Given the description of an element on the screen output the (x, y) to click on. 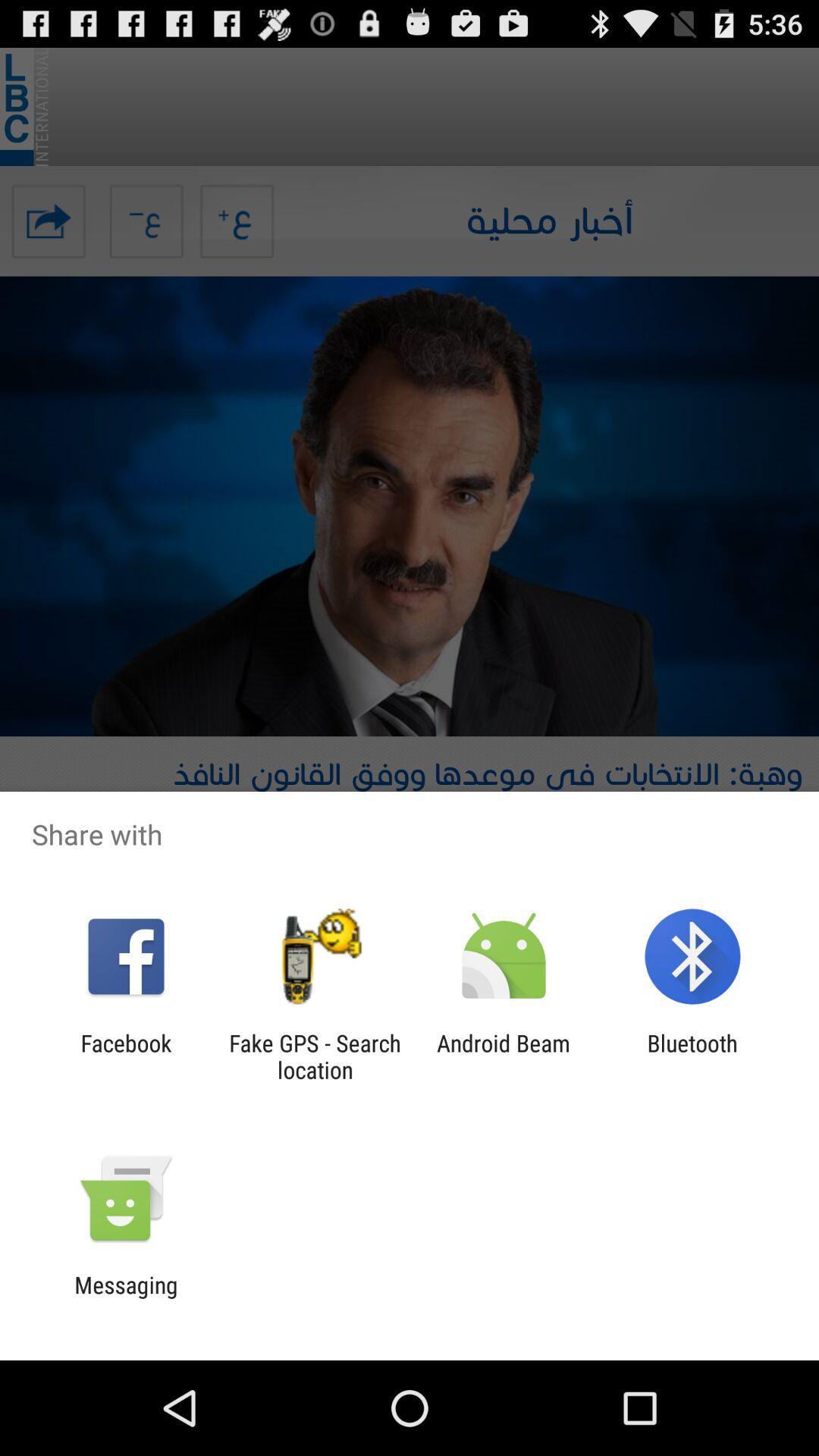
click icon next to fake gps search (503, 1056)
